Given the description of an element on the screen output the (x, y) to click on. 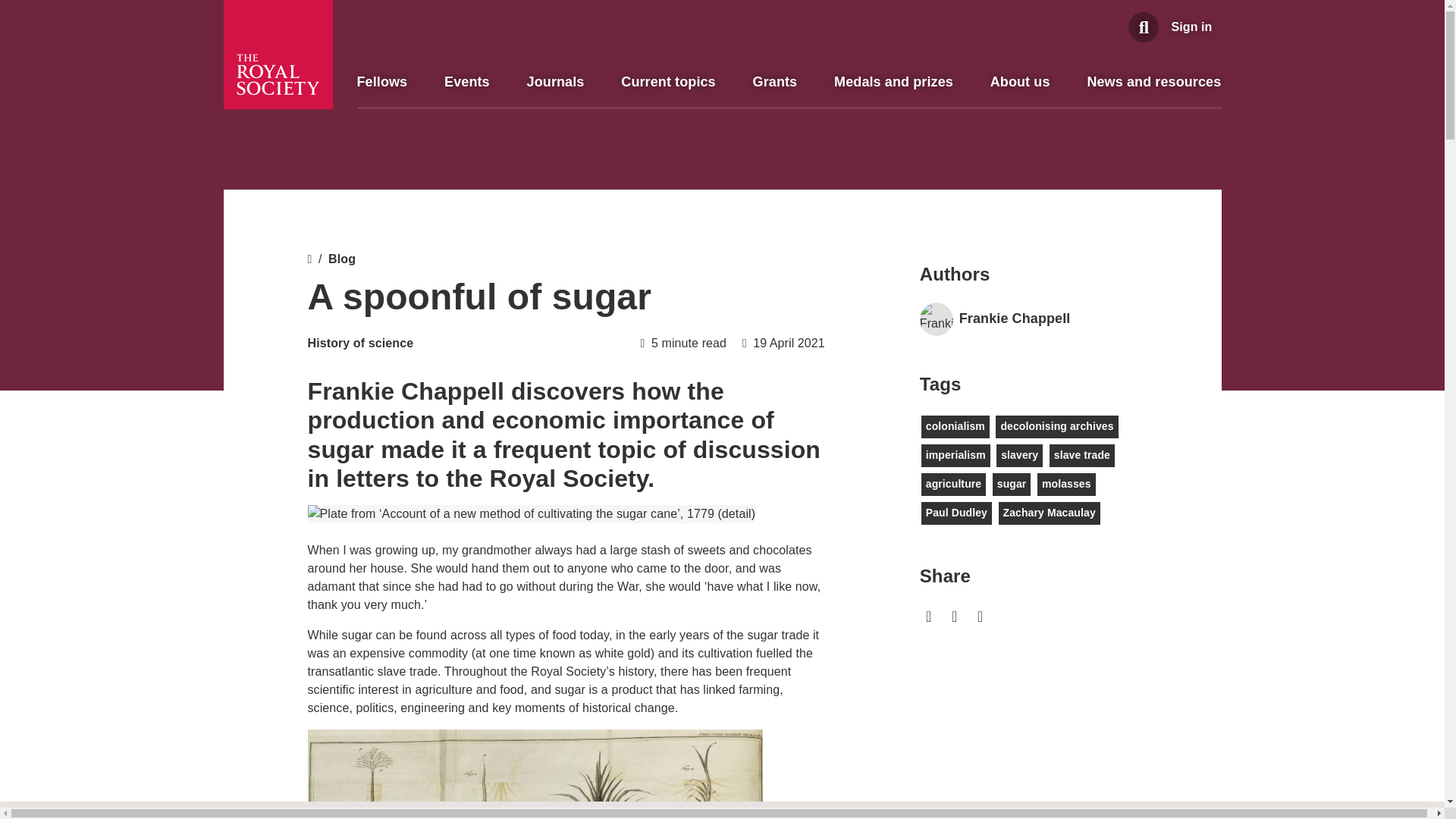
Current topics (667, 81)
Fellows (381, 81)
Journals (556, 81)
